Given the description of an element on the screen output the (x, y) to click on. 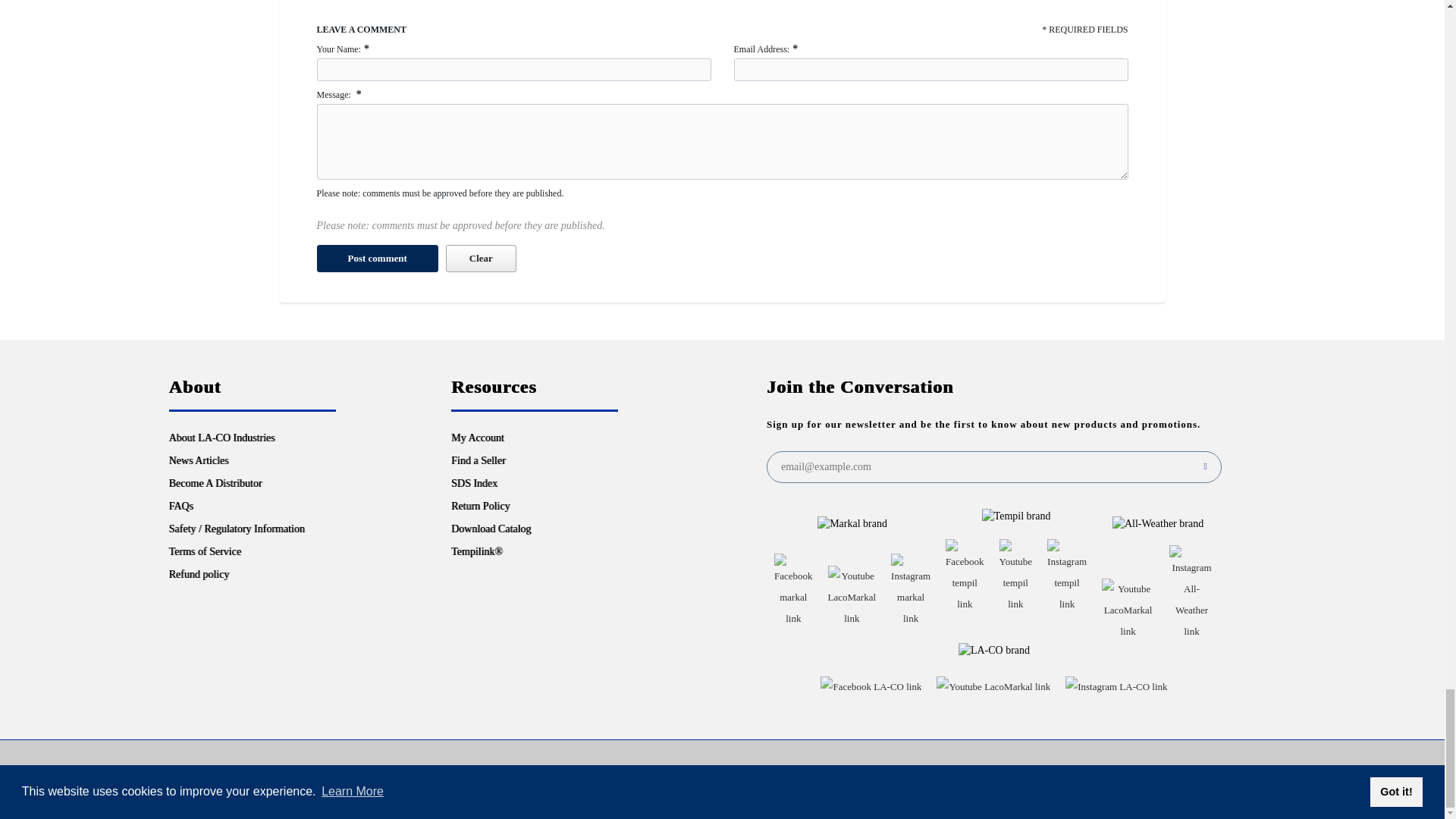
Terms of Service (204, 551)
News Articles (198, 460)
FAQs (180, 505)
Become A Distributor (215, 482)
About LA-CO Industries (221, 437)
Clear (480, 257)
Post comment (377, 257)
